Given the description of an element on the screen output the (x, y) to click on. 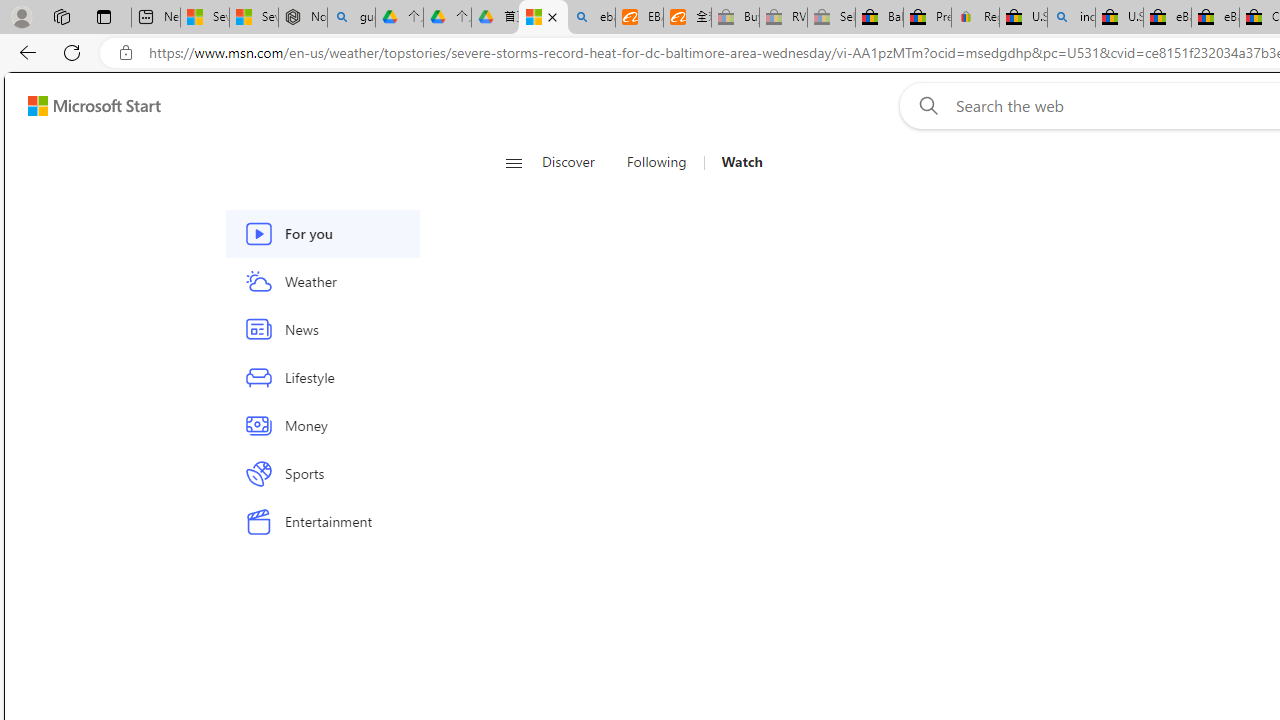
Skip to content (86, 105)
Register: Create a personal eBay account (975, 17)
Press Room - eBay Inc. (927, 17)
Class: button-glyph (513, 162)
